Given the description of an element on the screen output the (x, y) to click on. 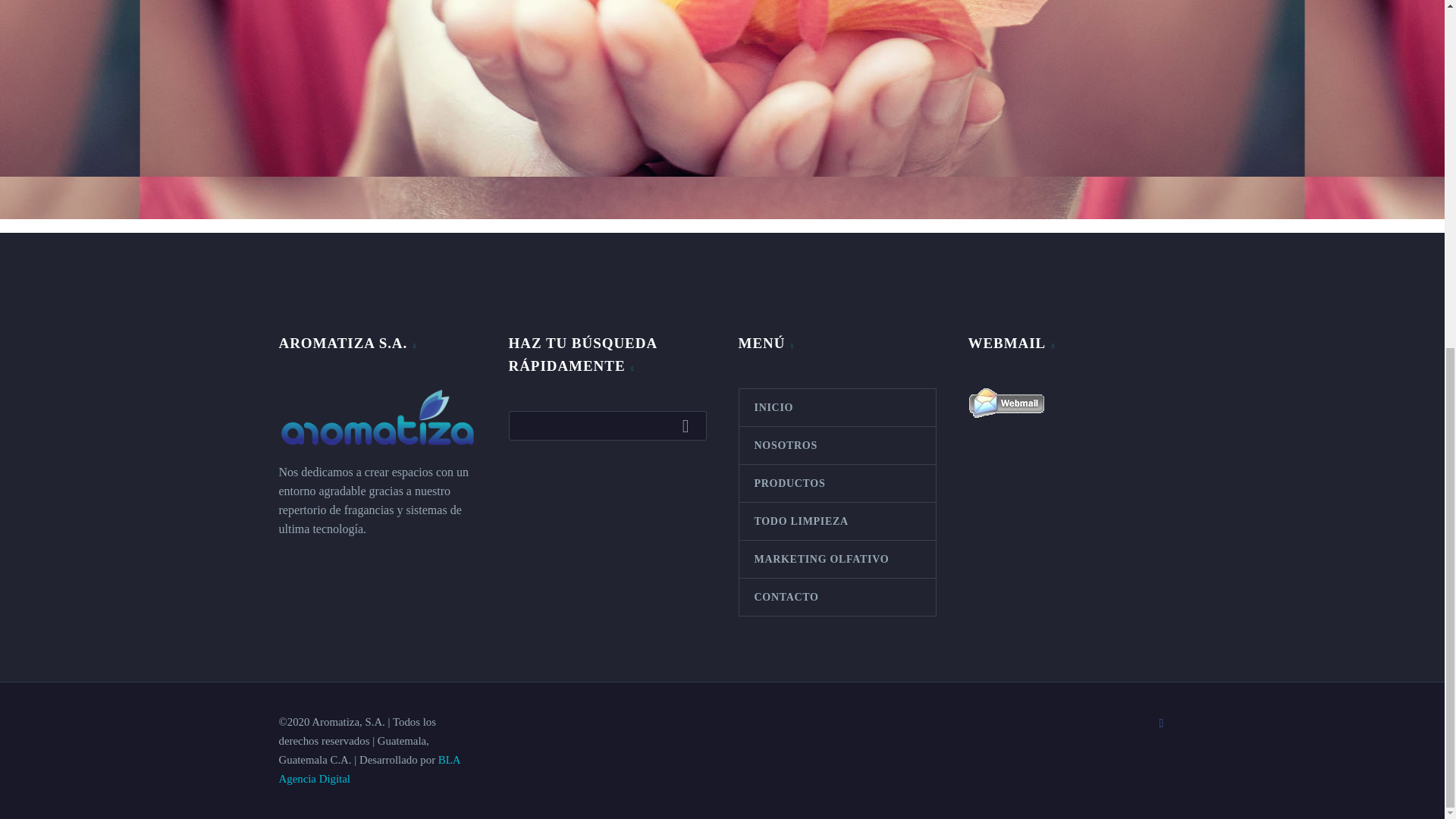
CONTACTO (836, 596)
PRODUCTOS (836, 483)
MARKETING OLFATIVO (836, 559)
INICIO (836, 407)
Facebook (1161, 723)
TODO LIMPIEZA (836, 520)
NOSOTROS (836, 445)
BLA Agencia Digital (369, 768)
BUSCAR (689, 425)
